Given the description of an element on the screen output the (x, y) to click on. 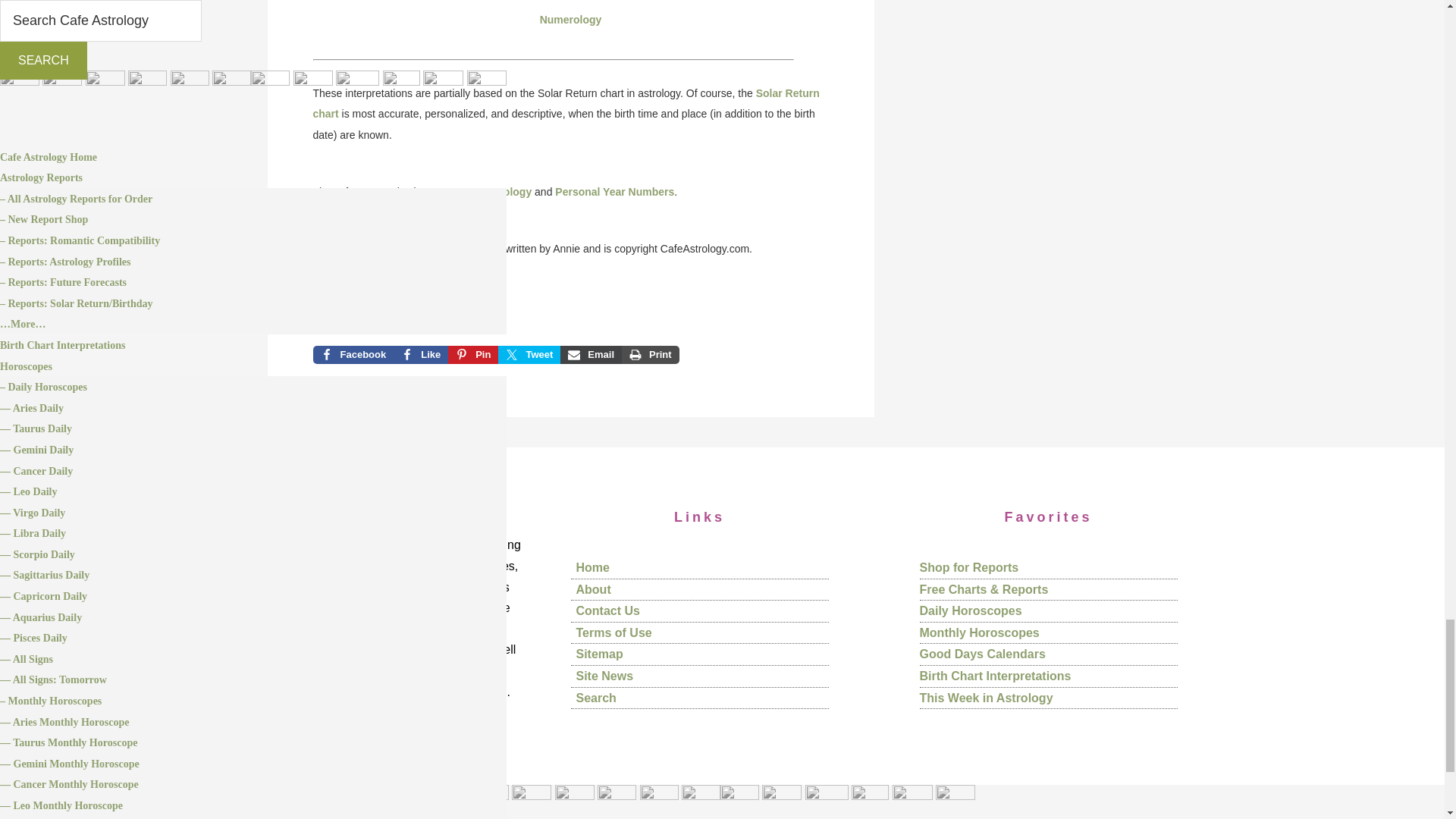
Libra (739, 801)
Share on Pinterest (472, 354)
Sagittarius (826, 801)
Facebook (353, 354)
Pin (472, 354)
Print this Page (650, 354)
Gemini (574, 801)
Like (420, 354)
Taurus (531, 801)
Share on Facebook (353, 354)
